Given the description of an element on the screen output the (x, y) to click on. 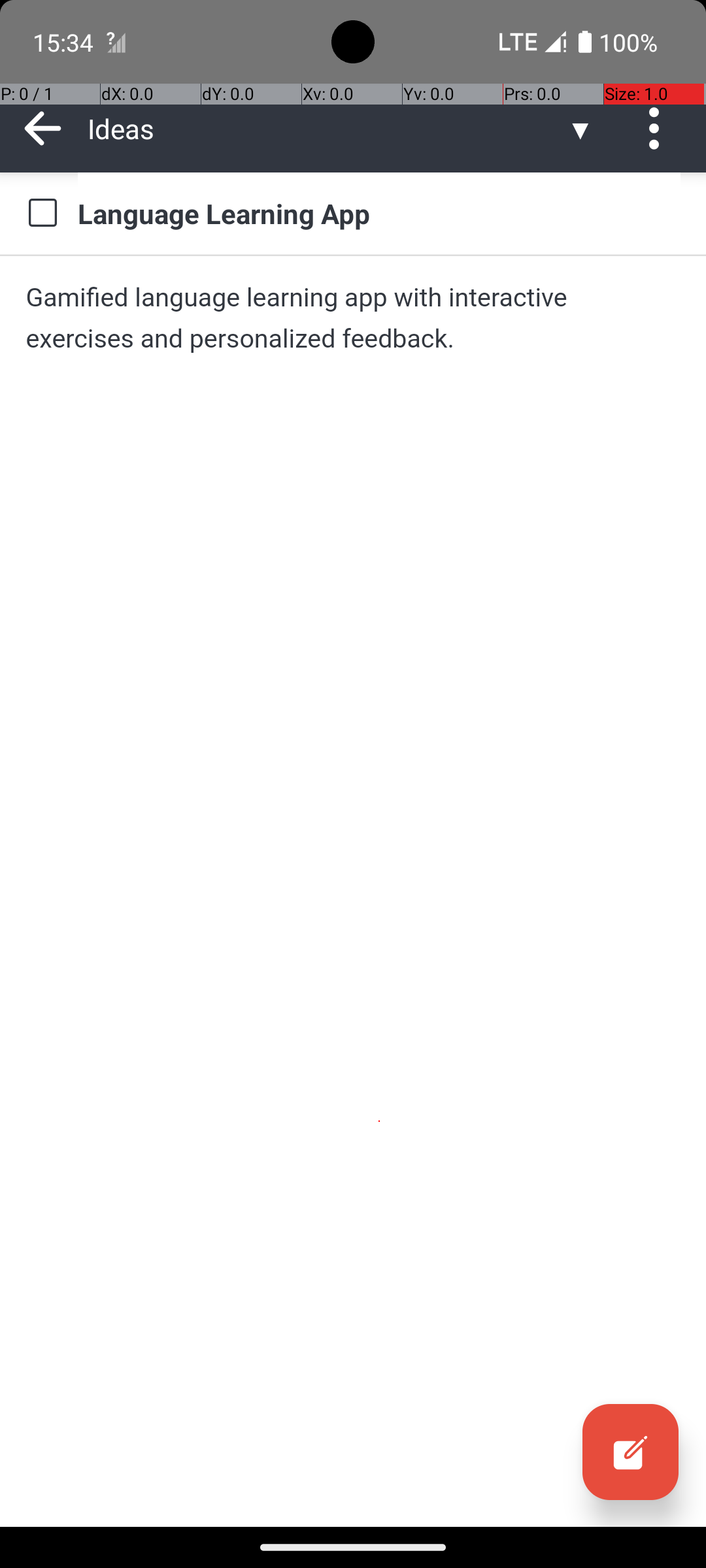
Language Learning App Element type: android.widget.EditText (378, 213)
Gamified language learning app with interactive exercises and personalized feedback. Element type: android.widget.TextView (352, 317)
